Given the description of an element on the screen output the (x, y) to click on. 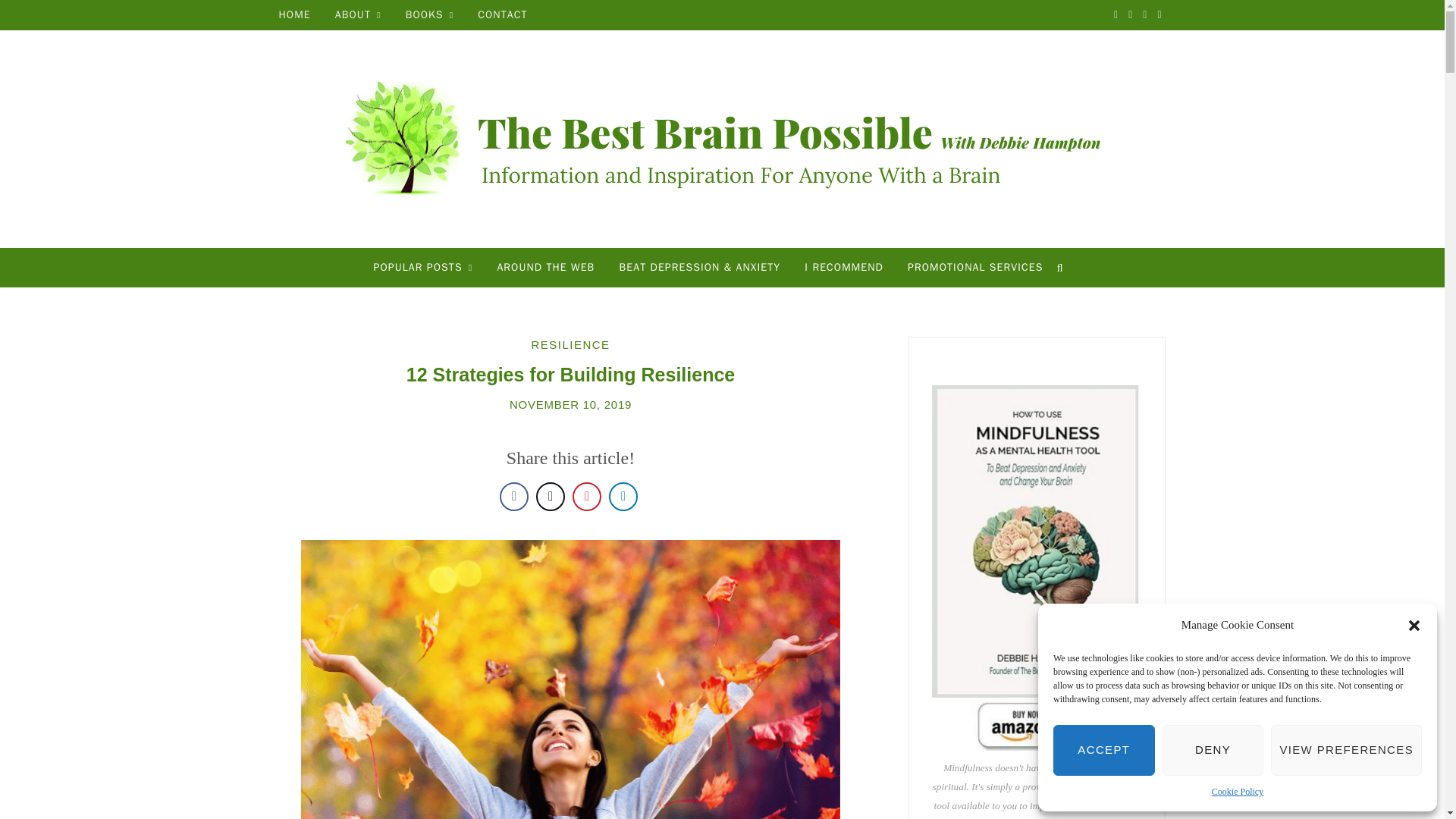
CONTACT (502, 15)
BOOKS (429, 15)
LinkedIn (1159, 15)
HOME (294, 15)
The Best Brain Possible (722, 139)
Cookie Policy (1237, 791)
POPULAR POSTS (422, 267)
DENY (1212, 749)
ABOUT (357, 15)
Search (1064, 267)
ACCEPT (1103, 749)
Facebook (1115, 15)
VIEW PREFERENCES (1346, 749)
Pinterest (1144, 15)
